Given the description of an element on the screen output the (x, y) to click on. 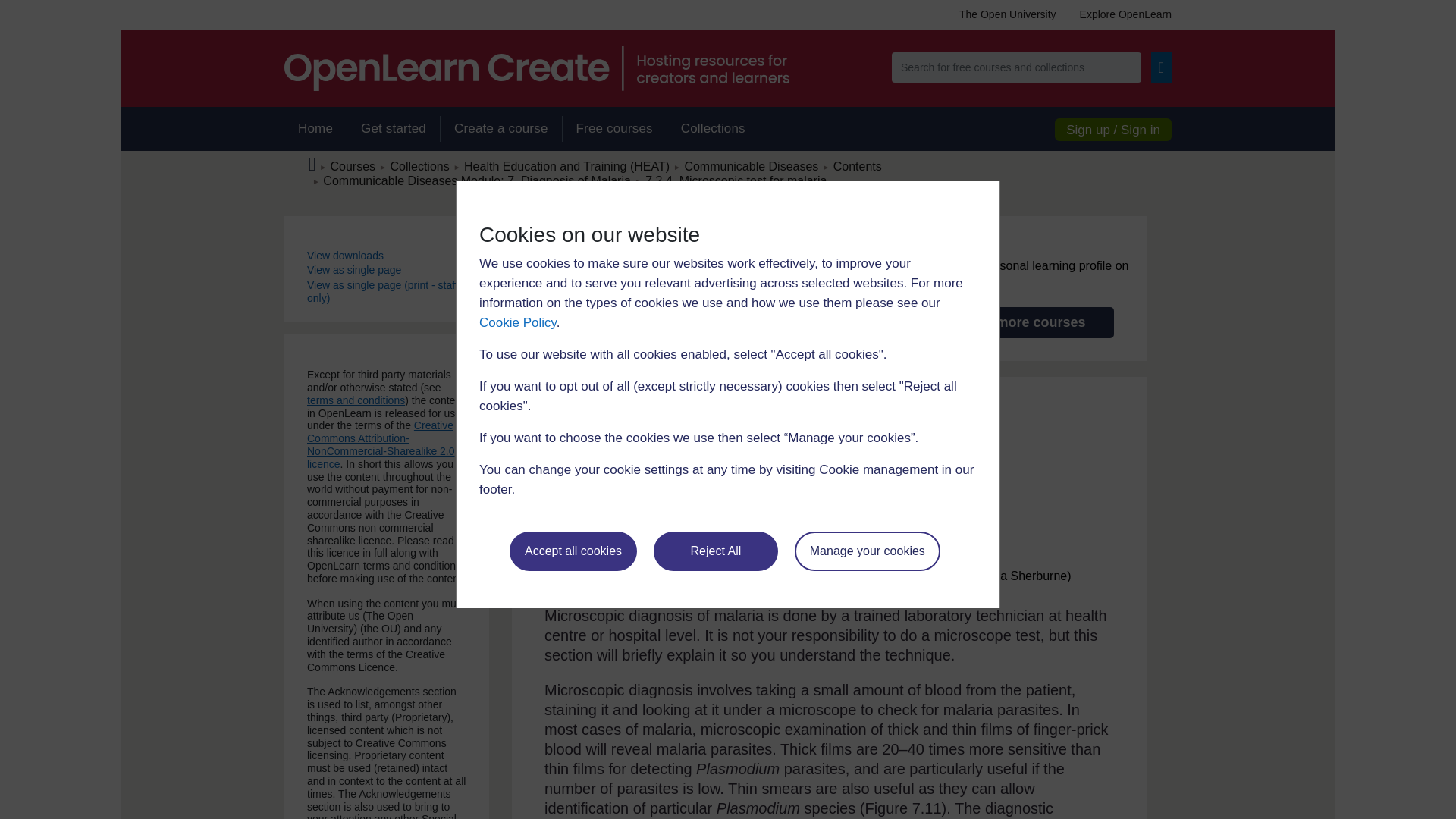
Explore OpenLearn (1119, 14)
The Open University (1007, 14)
OpenLearn Create (536, 67)
Search (1161, 67)
Get started (392, 128)
Reject All (715, 550)
Create a course (500, 128)
Manage your cookies (867, 550)
Search (1161, 67)
Home (314, 128)
Accept all cookies (573, 550)
Explore OpenLearn (1119, 14)
Free courses (614, 128)
The Open University (1007, 14)
Collections (712, 128)
